Given the description of an element on the screen output the (x, y) to click on. 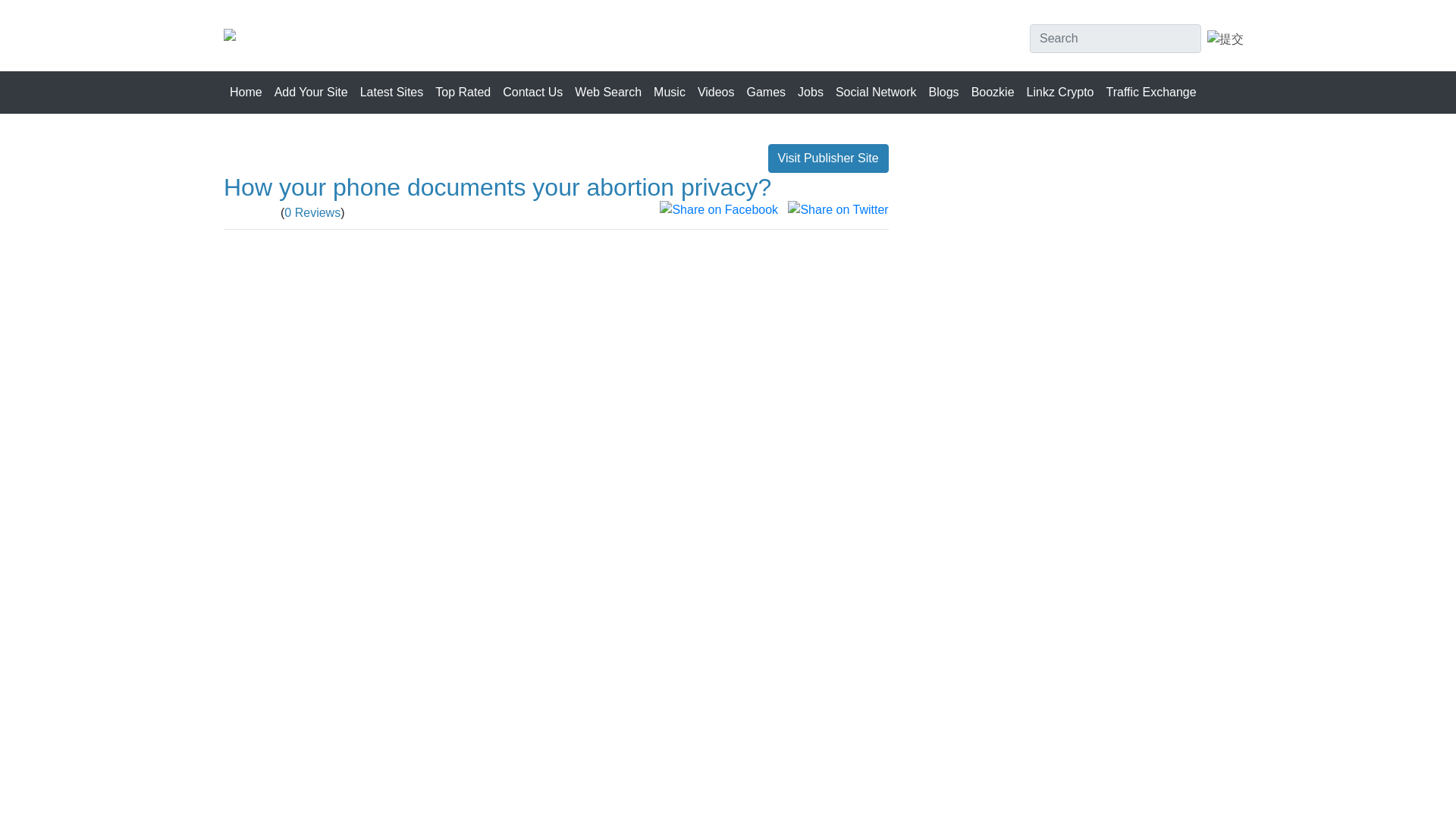
Top Rated (462, 91)
Social Network (876, 91)
Contact Us (532, 91)
Jobs (810, 91)
Add Your Site (310, 91)
Latest Sites (391, 91)
Linkz Crypto (1060, 91)
Web Search (608, 91)
Home (245, 91)
Music (669, 91)
